Given the description of an element on the screen output the (x, y) to click on. 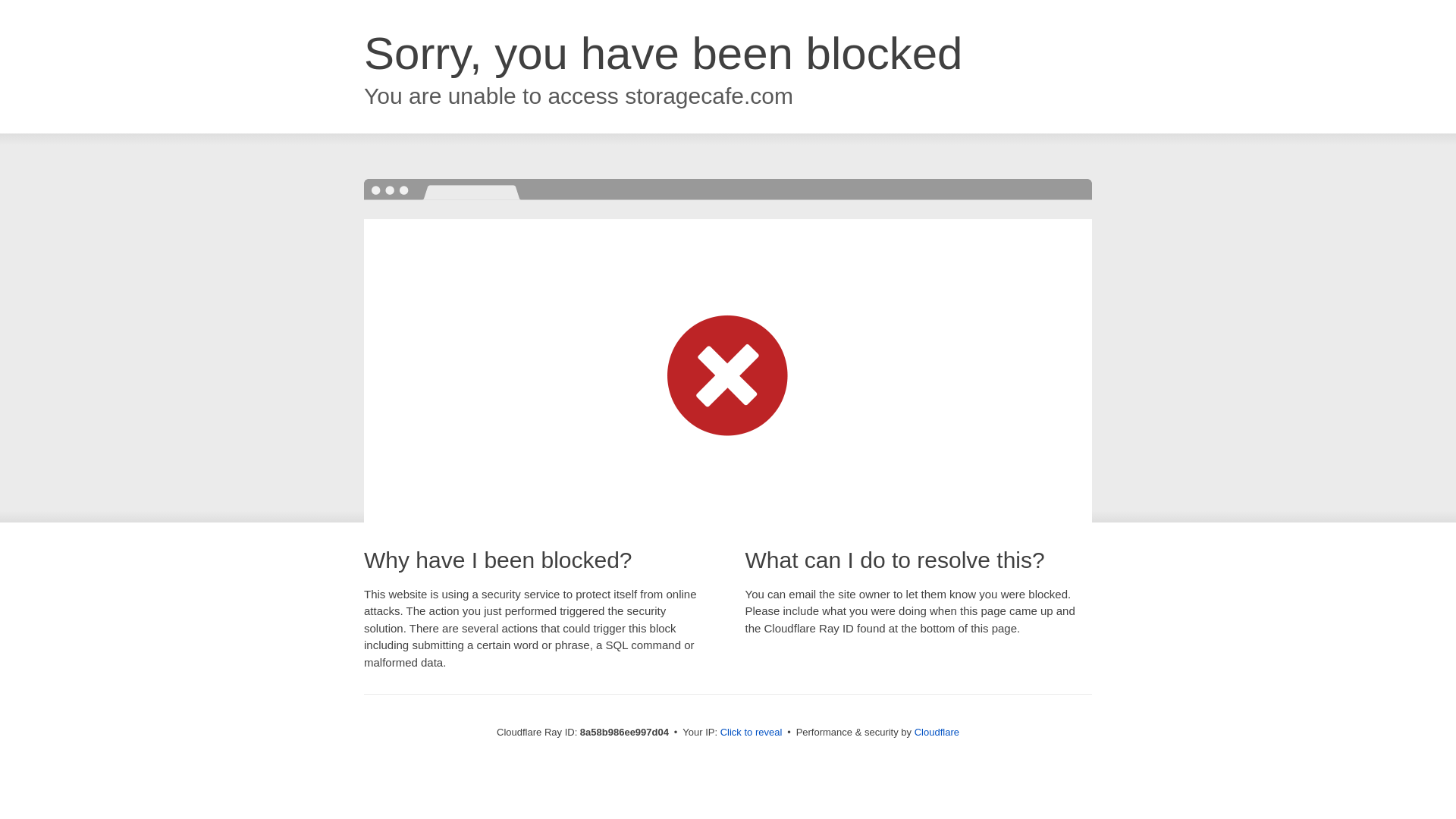
Click to reveal (751, 732)
Cloudflare (936, 731)
